Given the description of an element on the screen output the (x, y) to click on. 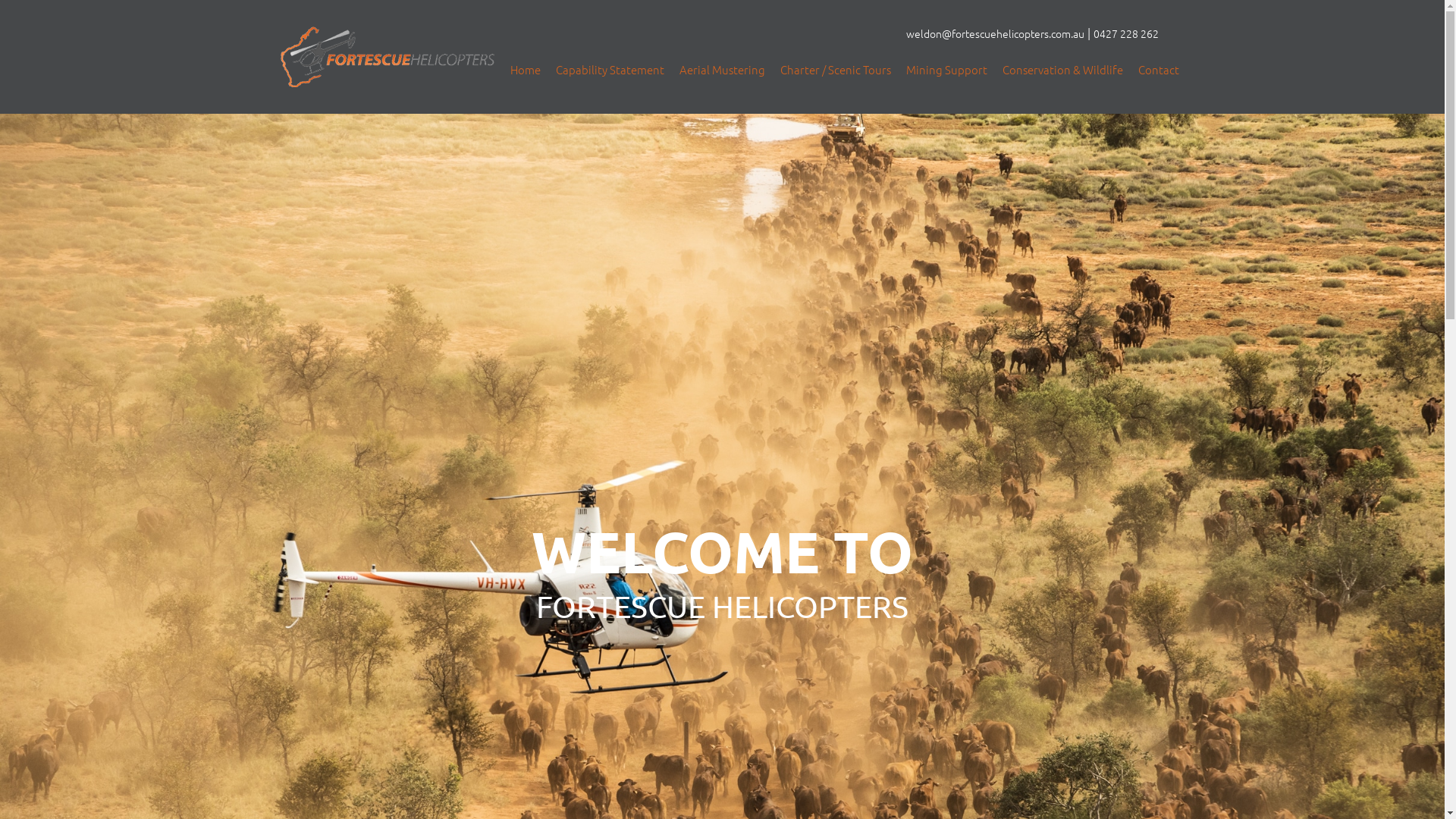
Contact Element type: text (1158, 69)
Charter / Scenic Tours Element type: text (835, 69)
0427 228 262 Element type: text (1125, 32)
Capability Statement Element type: text (610, 69)
Mining Support Element type: text (946, 69)
weldon@fortescuehelicopters.com.au Element type: text (995, 32)
Aerial Mustering Element type: text (721, 69)
Conservation & Wildlife Element type: text (1061, 69)
Home Element type: text (525, 69)
